Given the description of an element on the screen output the (x, y) to click on. 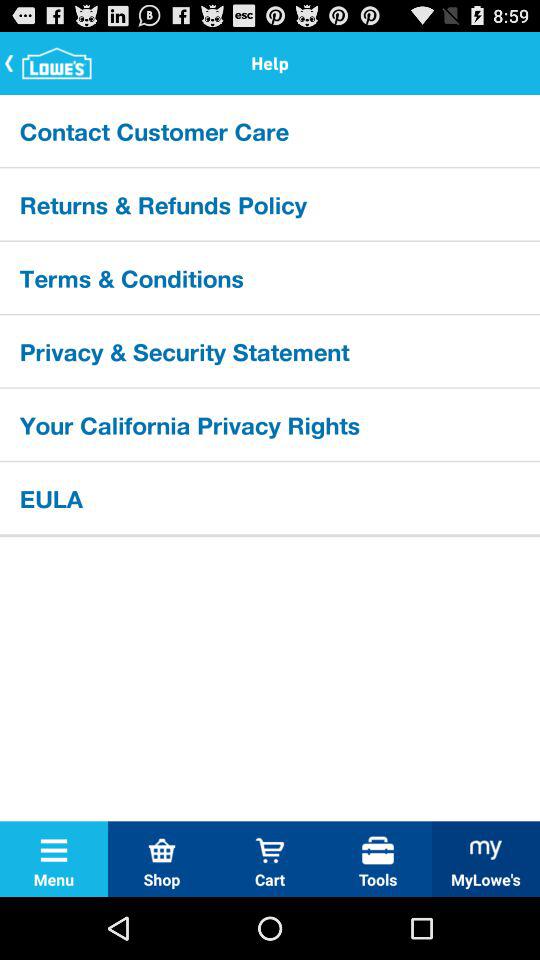
select the returns & refunds policy icon (270, 203)
